Given the description of an element on the screen output the (x, y) to click on. 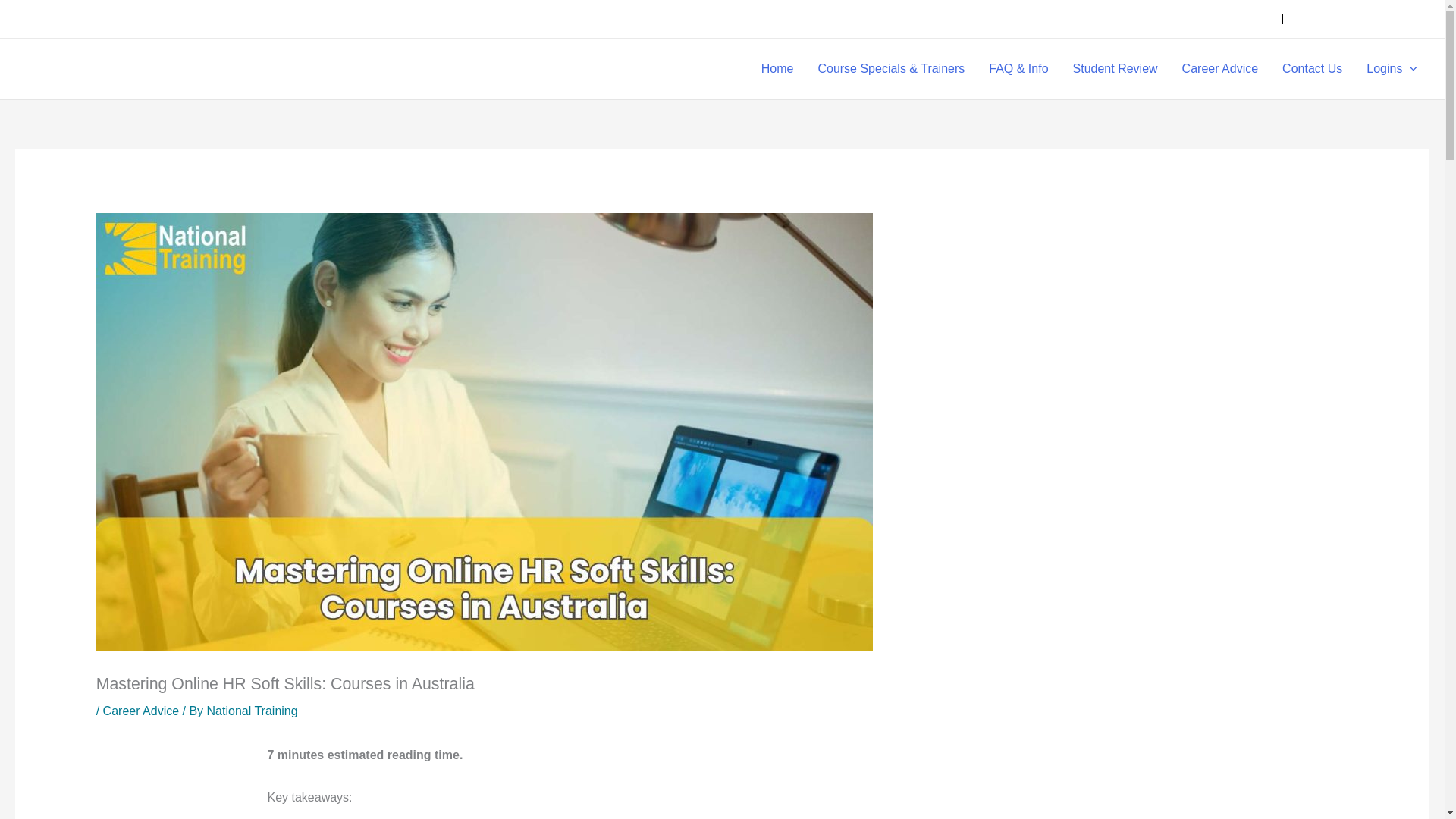
03-9013 6878 (1229, 18)
Logins (1391, 68)
Career Advice (141, 710)
National Training (252, 710)
Home (777, 68)
Student Review (1115, 68)
Contact Us (1311, 68)
Career Advice (1220, 68)
View all posts by National Training (252, 710)
